Given the description of an element on the screen output the (x, y) to click on. 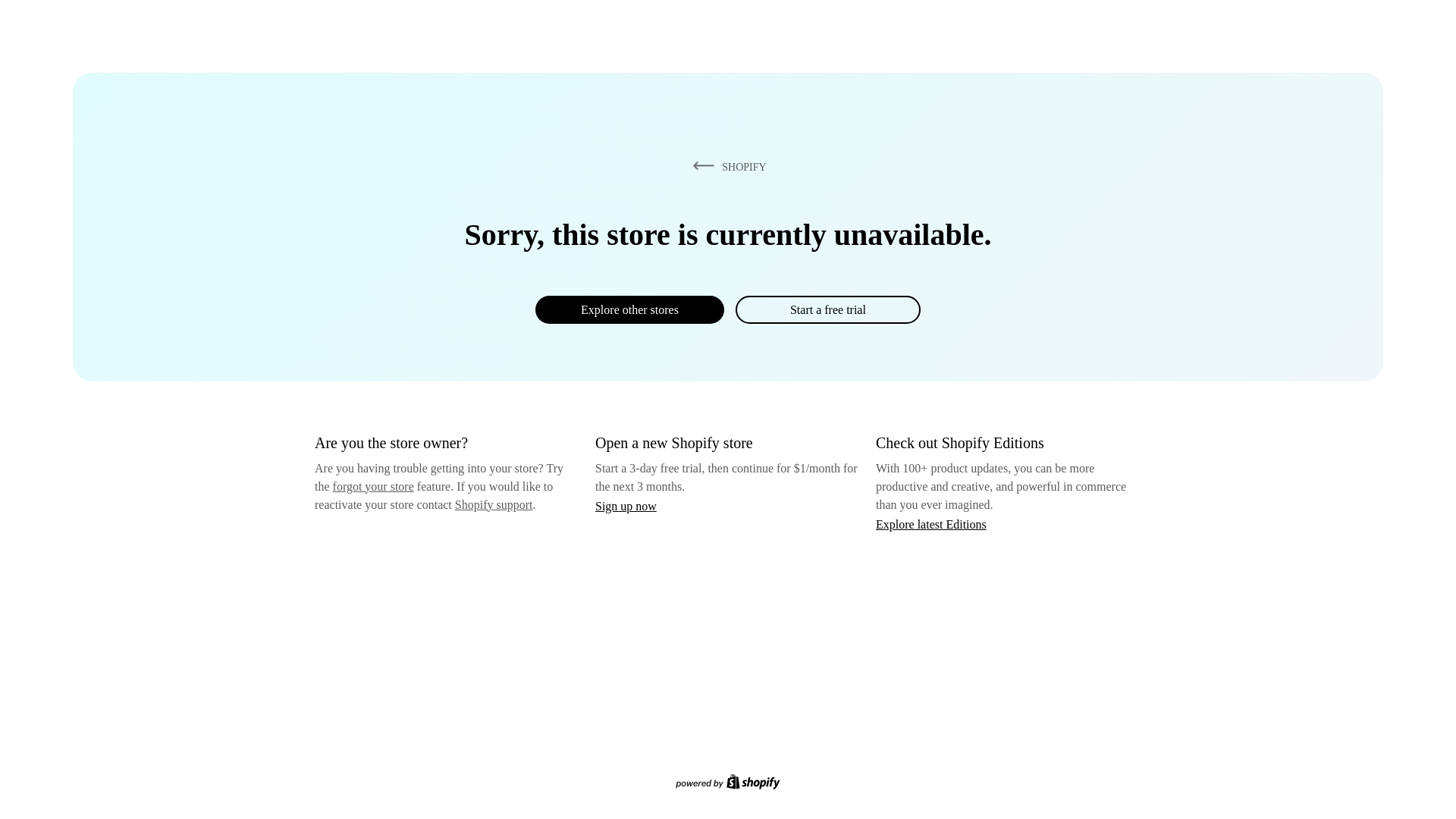
SHOPIFY (726, 166)
Start a free trial (827, 309)
Shopify support (493, 504)
forgot your store (373, 486)
Explore latest Editions (931, 523)
Explore other stores (629, 309)
Sign up now (625, 505)
